Given the description of an element on the screen output the (x, y) to click on. 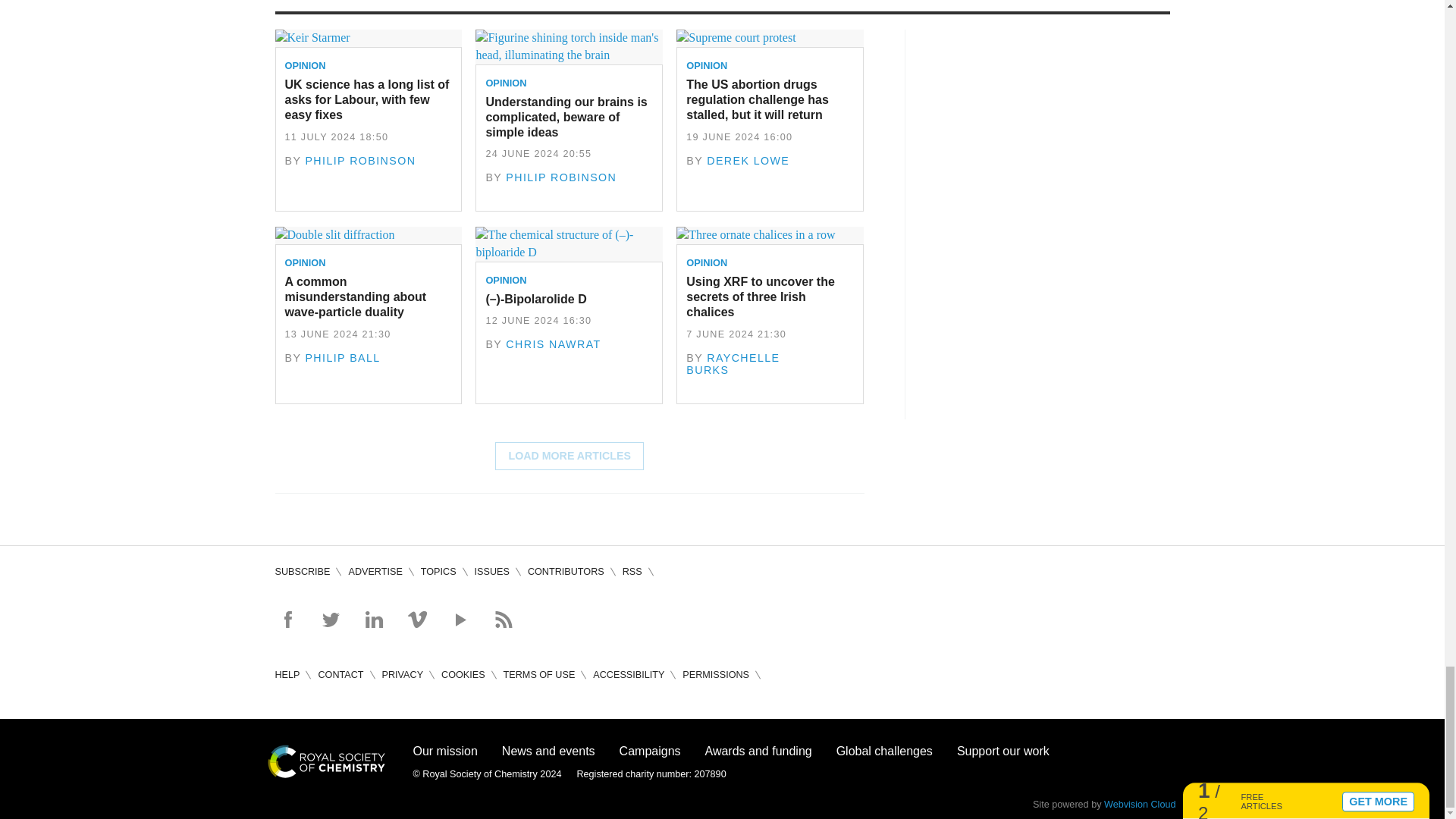
Follow on Facebook (287, 619)
Follow on Twitter (330, 619)
